Given the description of an element on the screen output the (x, y) to click on. 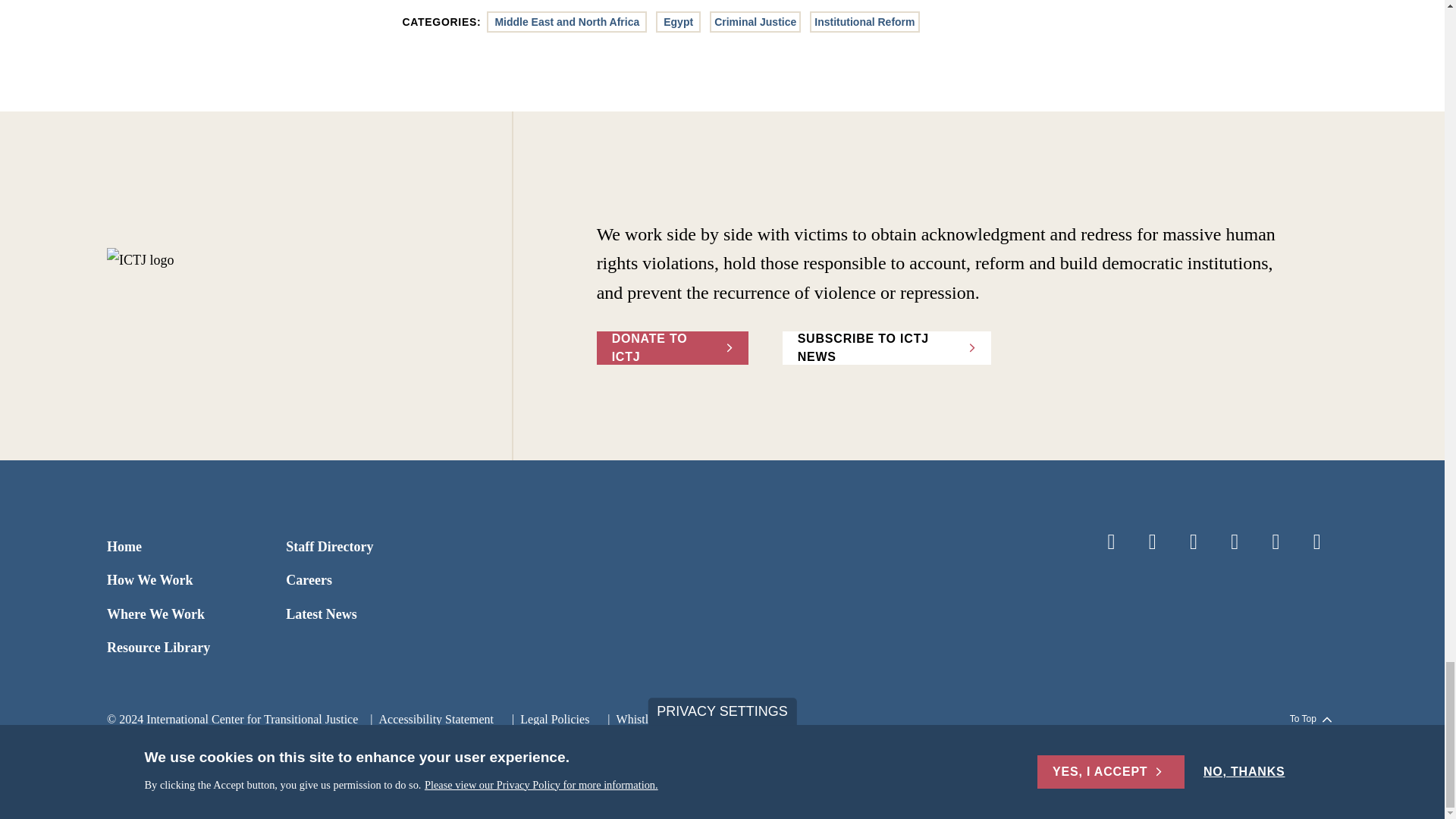
facebook (1110, 541)
instagram (1234, 541)
Twitter (1152, 541)
Medium (1317, 541)
LinkedIn (1193, 541)
Youtube (1275, 541)
Privacy Policy, Terms of Use, Whistleblower Policy (547, 719)
